Given the description of an element on the screen output the (x, y) to click on. 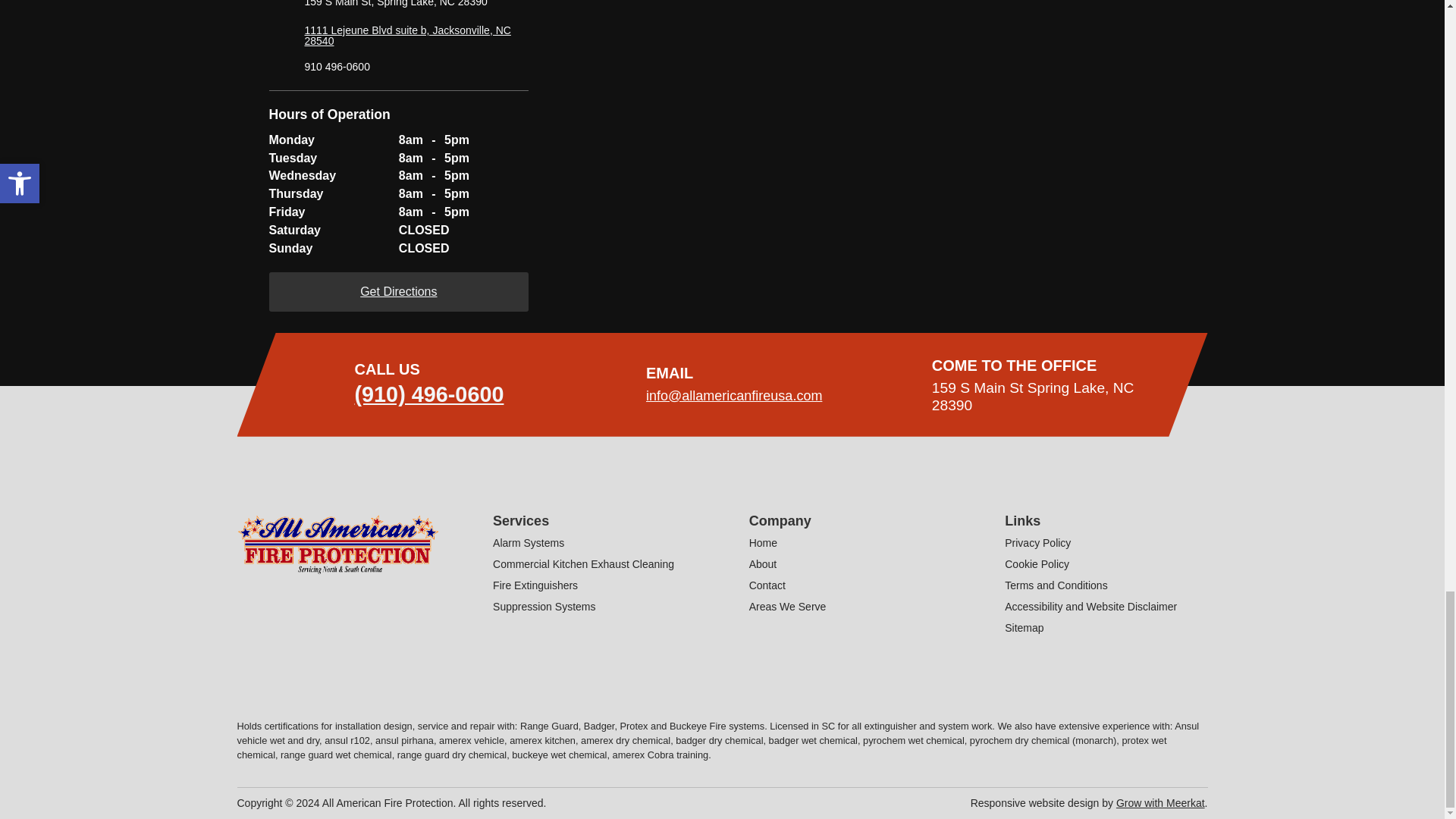
all-american-fire-protection-transparent (337, 546)
